Given the description of an element on the screen output the (x, y) to click on. 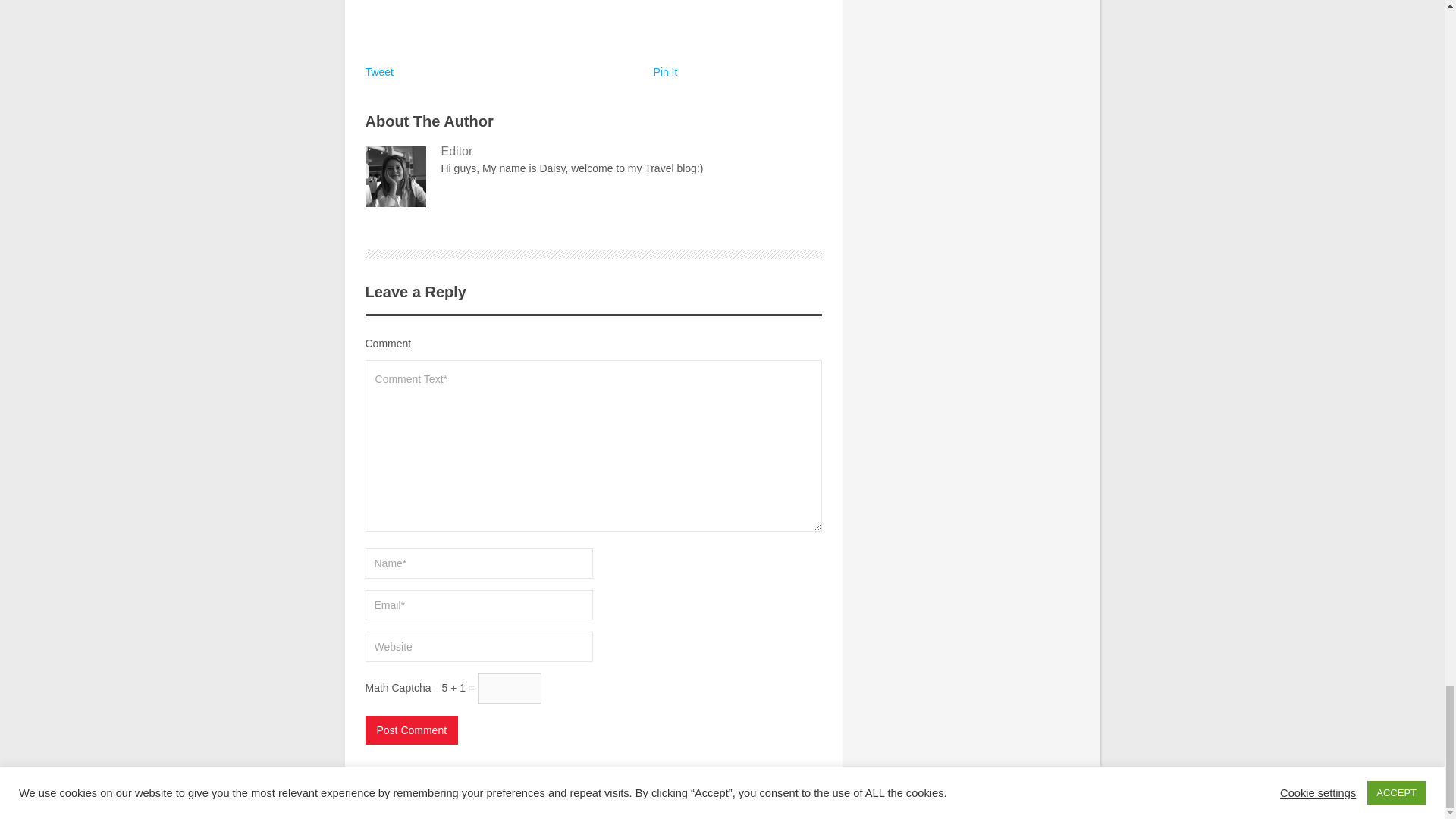
Post Comment (411, 729)
